Given the description of an element on the screen output the (x, y) to click on. 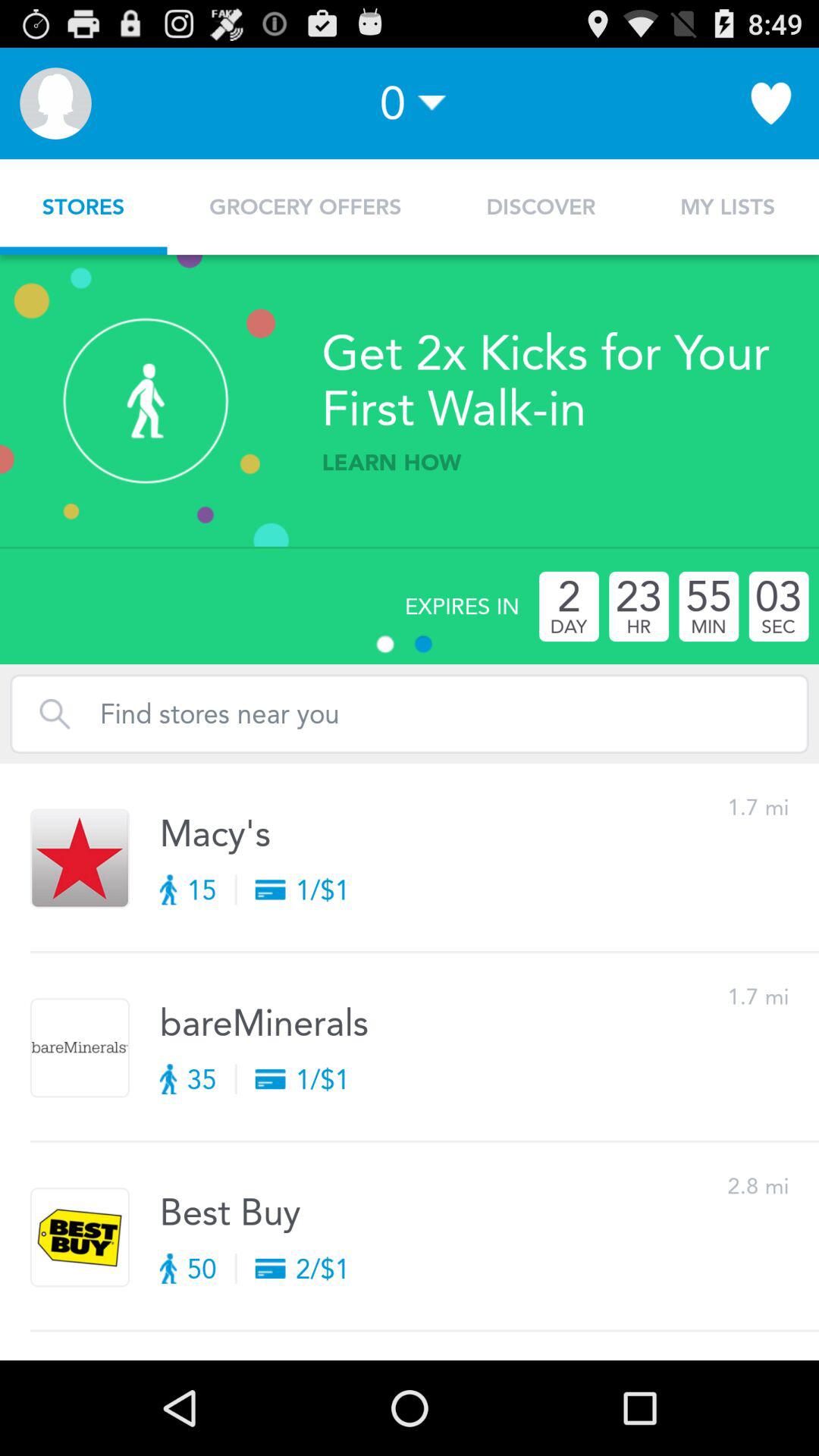
launch icon above stores icon (55, 103)
